Given the description of an element on the screen output the (x, y) to click on. 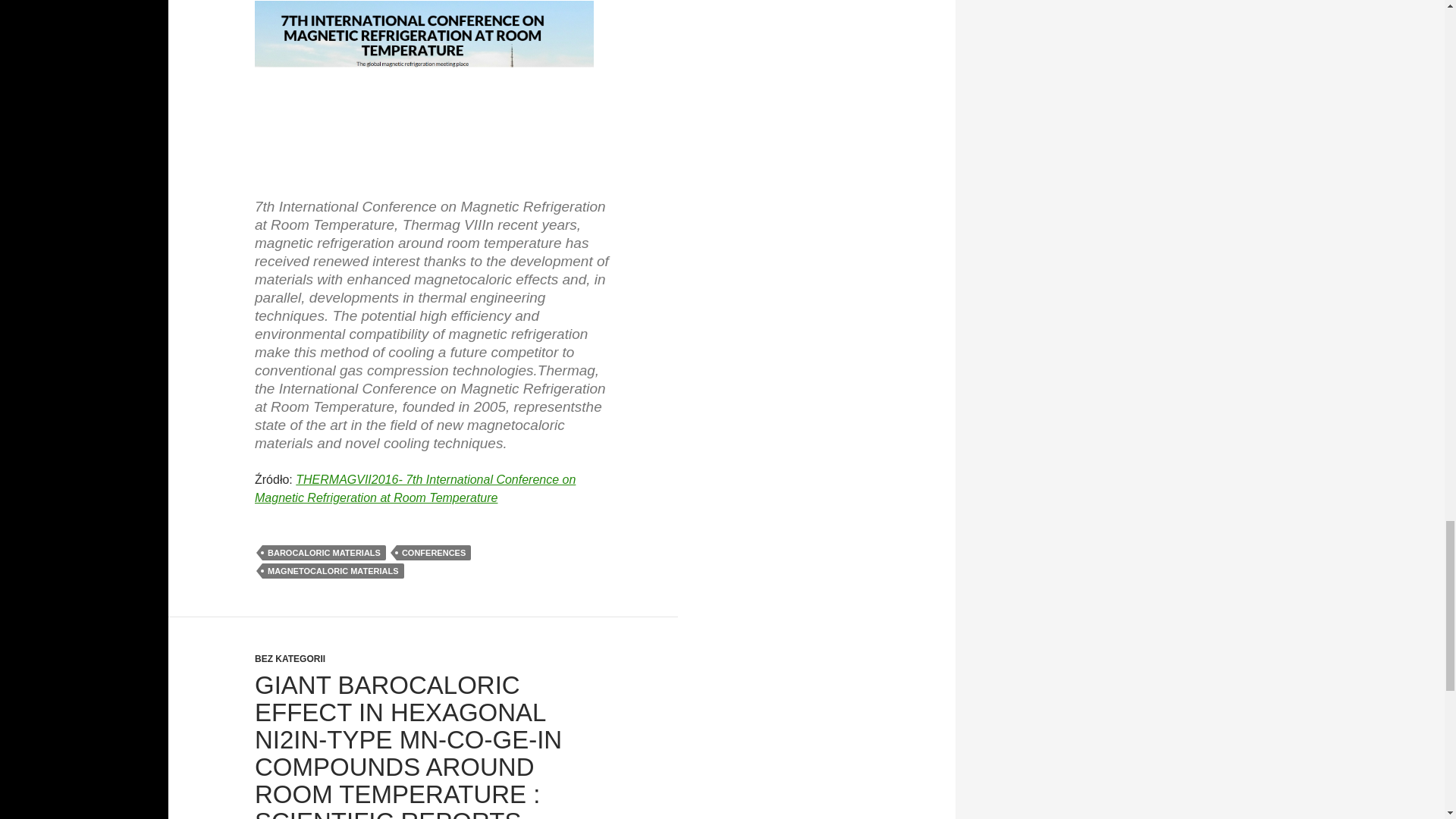
CONFERENCES (433, 552)
BEZ KATEGORII (289, 658)
MAGNETOCALORIC MATERIALS (333, 570)
BAROCALORIC MATERIALS (323, 552)
